Given the description of an element on the screen output the (x, y) to click on. 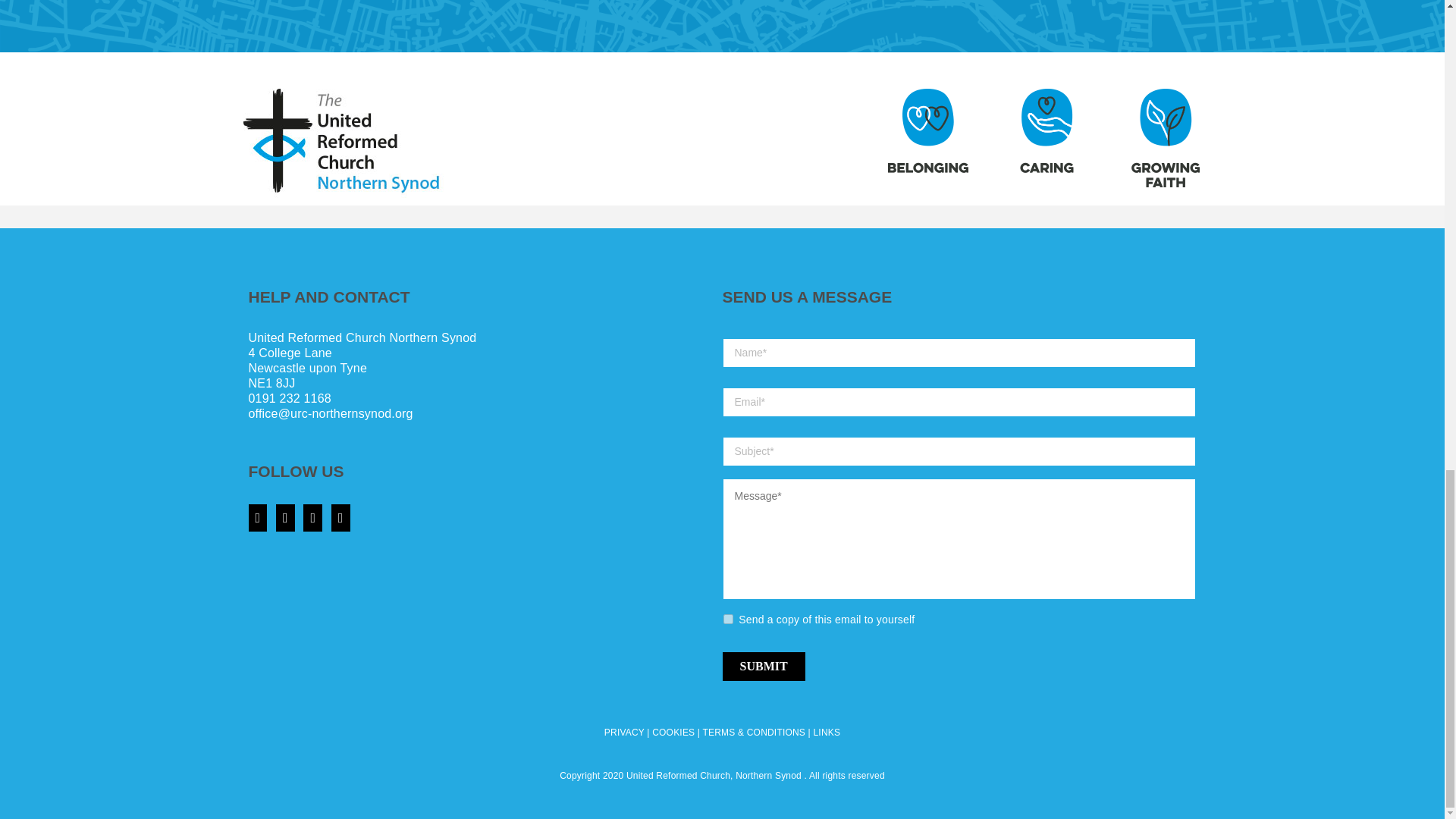
Send a copy of this email to yourself (728, 619)
Submit (763, 665)
icons (1043, 138)
footer-logo (340, 140)
